Given the description of an element on the screen output the (x, y) to click on. 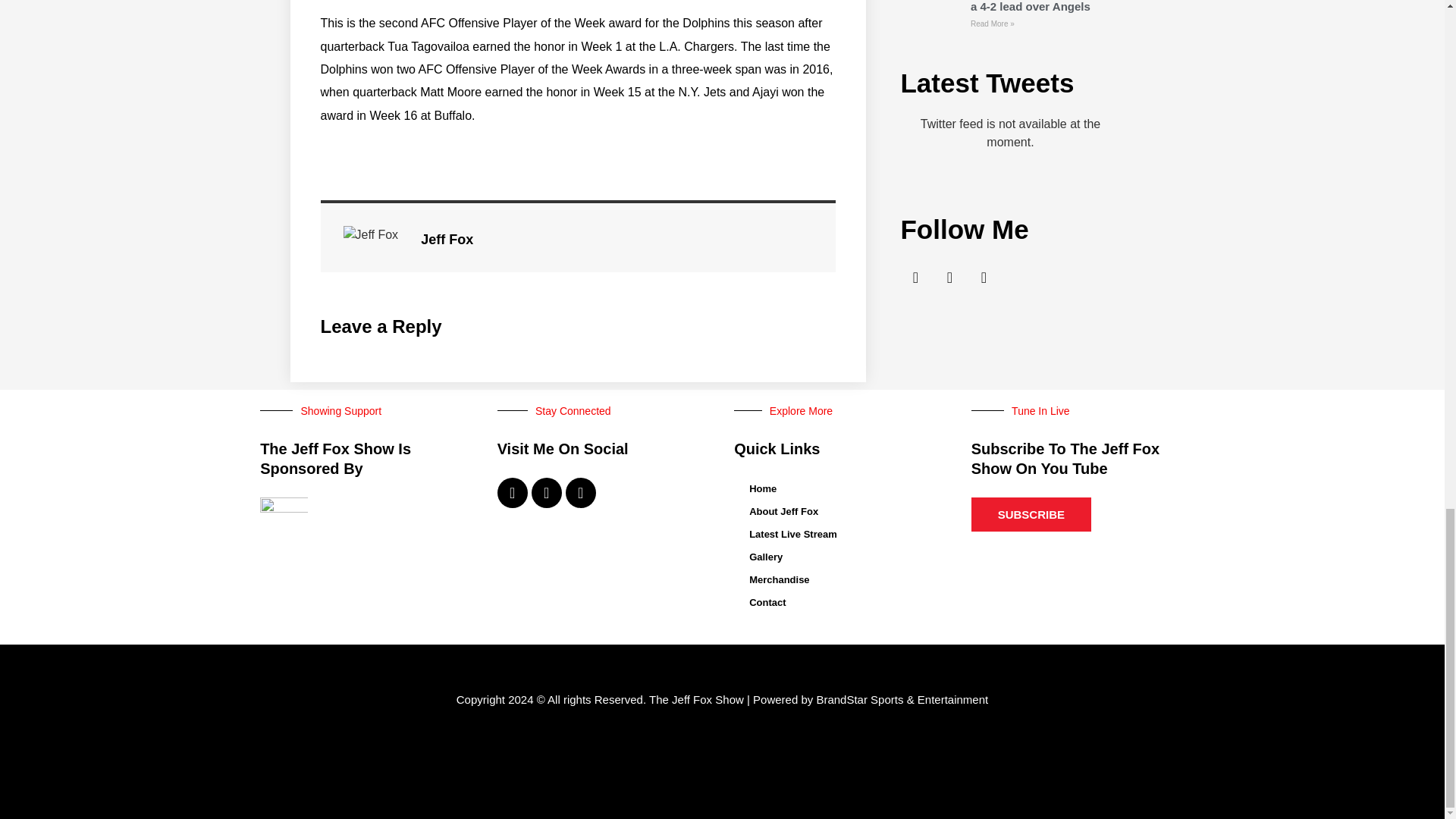
Home (840, 488)
About Jeff Fox (840, 511)
